Given the description of an element on the screen output the (x, y) to click on. 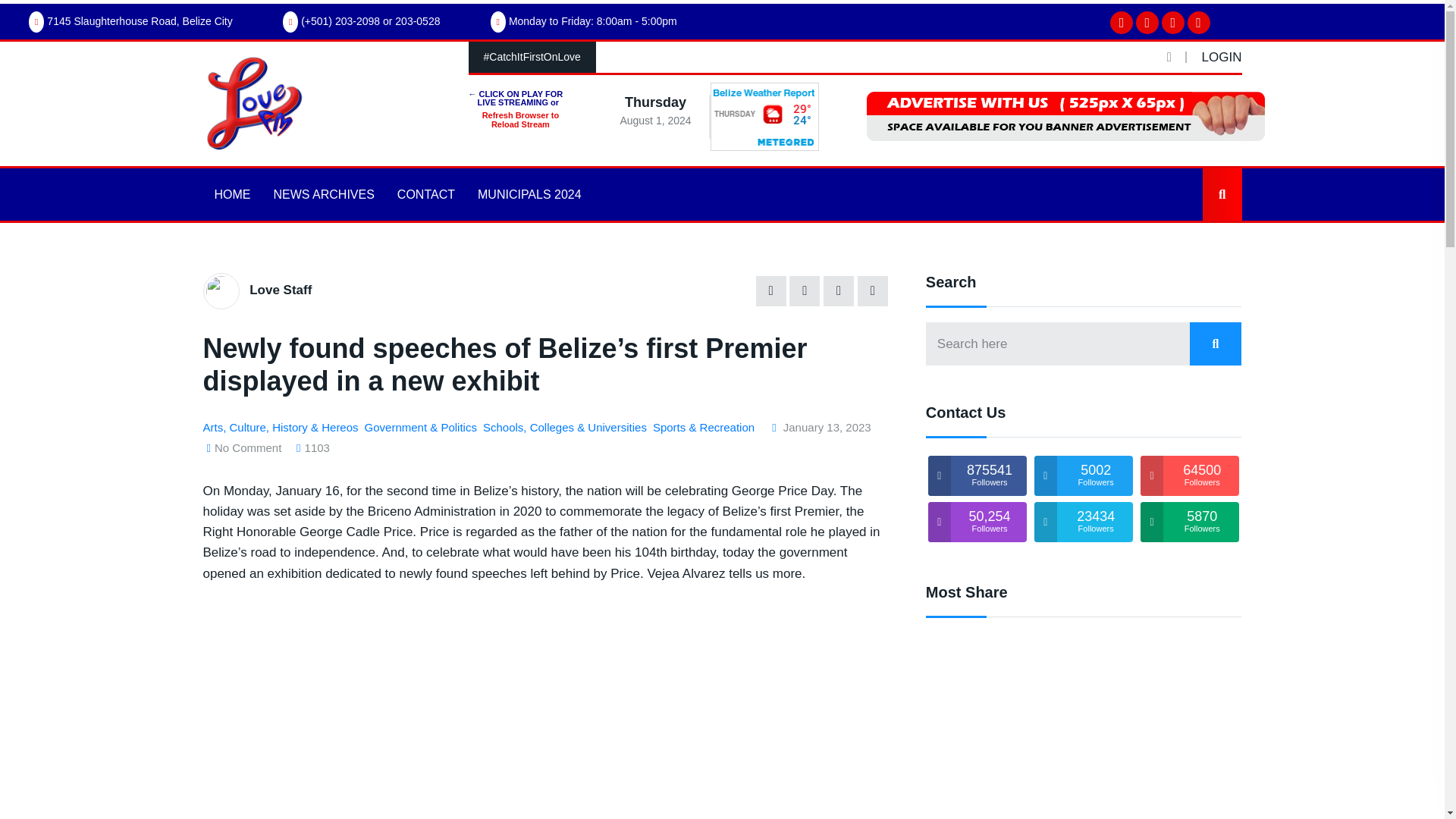
Love Staff (279, 289)
LOGIN (1221, 56)
CONTACT (425, 194)
MUNICIPALS 2024 (528, 194)
HOME (232, 194)
Home (227, 207)
NEWS ARCHIVES (323, 194)
